Given the description of an element on the screen output the (x, y) to click on. 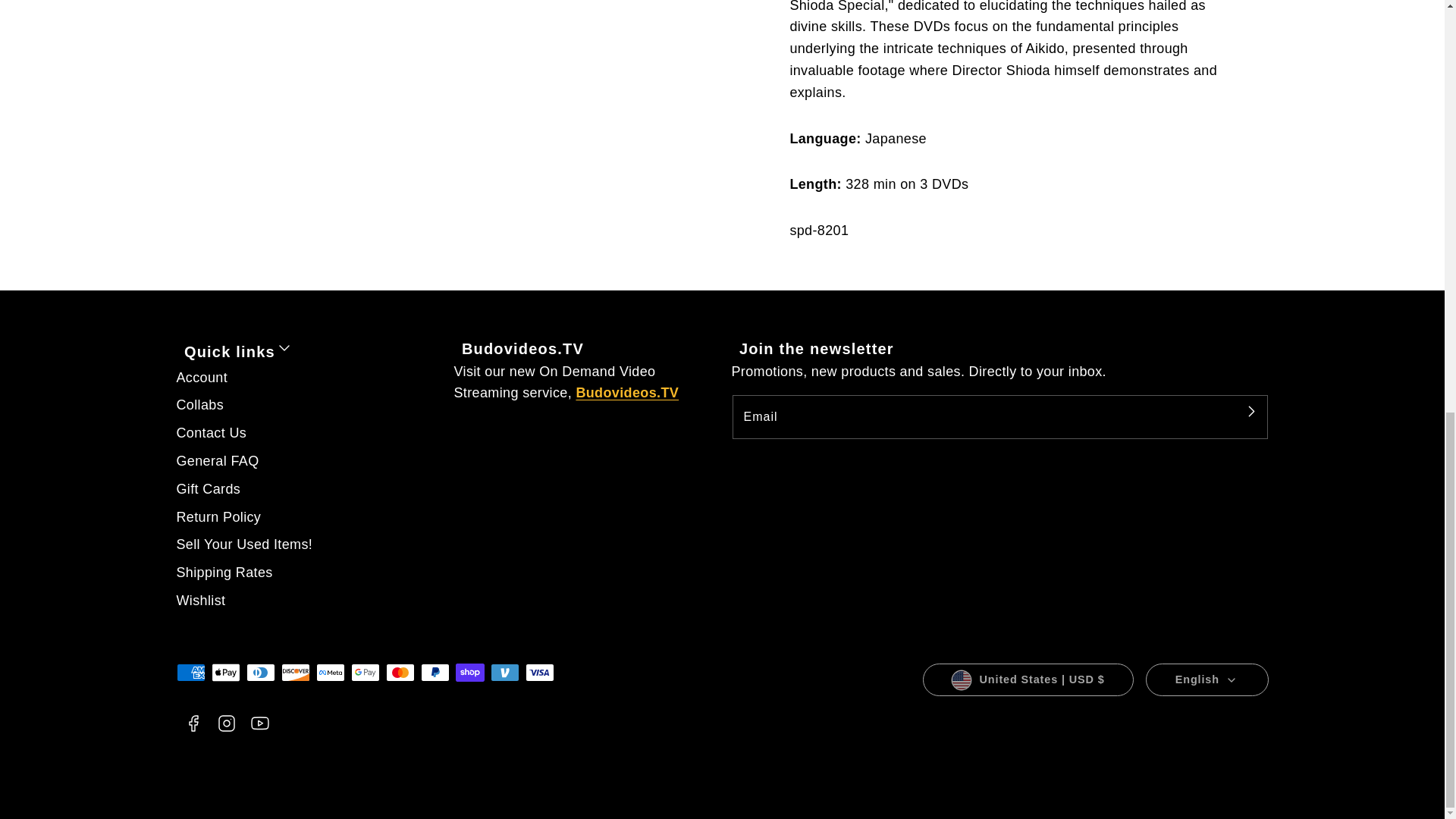
Visa (538, 672)
Diners Club (260, 672)
PayPal (434, 672)
American Express (190, 672)
Meta Pay (329, 672)
Mastercard (399, 672)
Venmo (503, 672)
Shop Pay (468, 672)
Discover (294, 672)
Google Pay (364, 672)
